Given the description of an element on the screen output the (x, y) to click on. 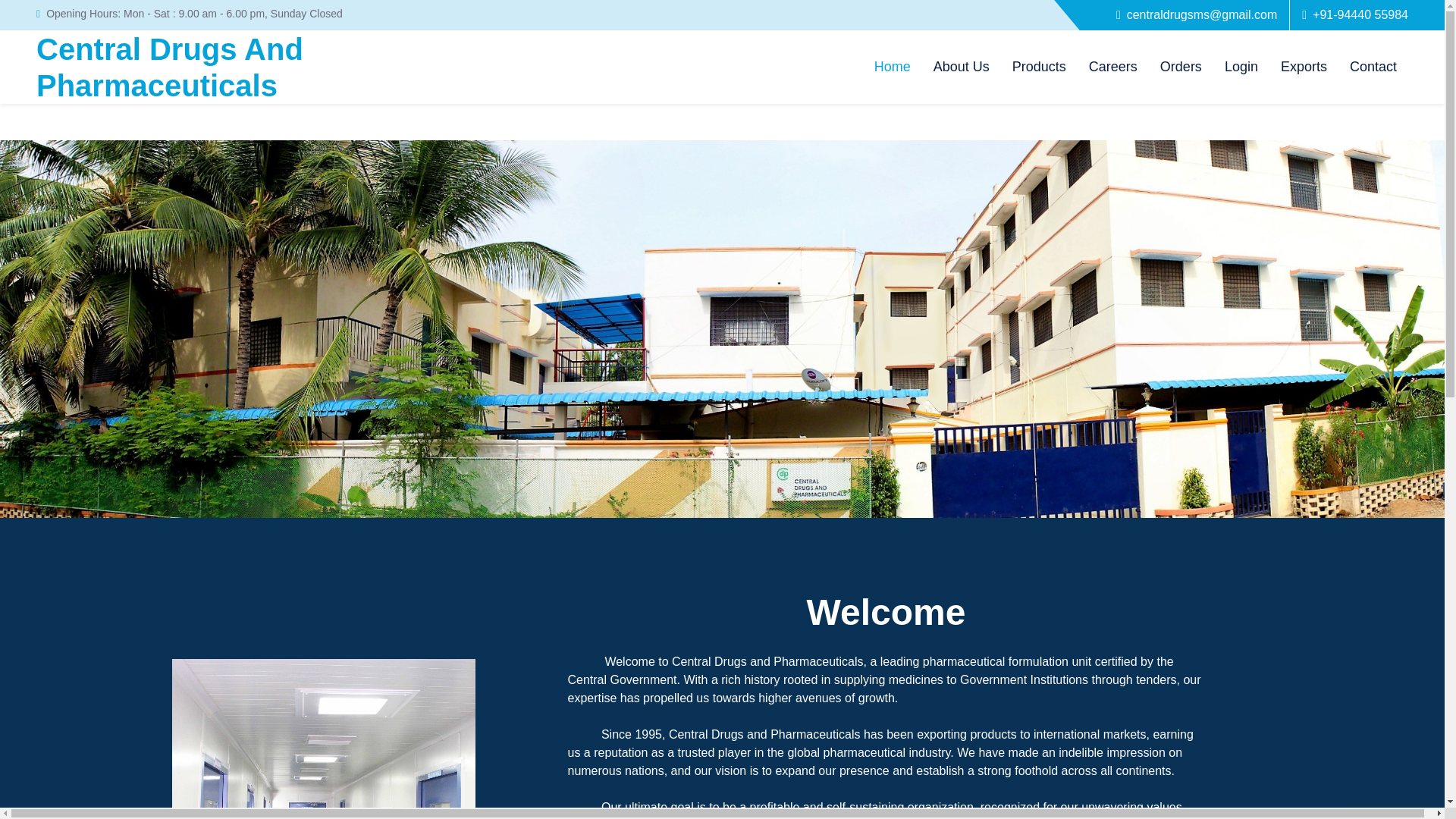
Orders (1180, 67)
Careers (1112, 67)
Exports (169, 66)
Home (1303, 67)
About Us (892, 67)
Products (961, 67)
Contact (1039, 67)
Login (1372, 67)
